Given the description of an element on the screen output the (x, y) to click on. 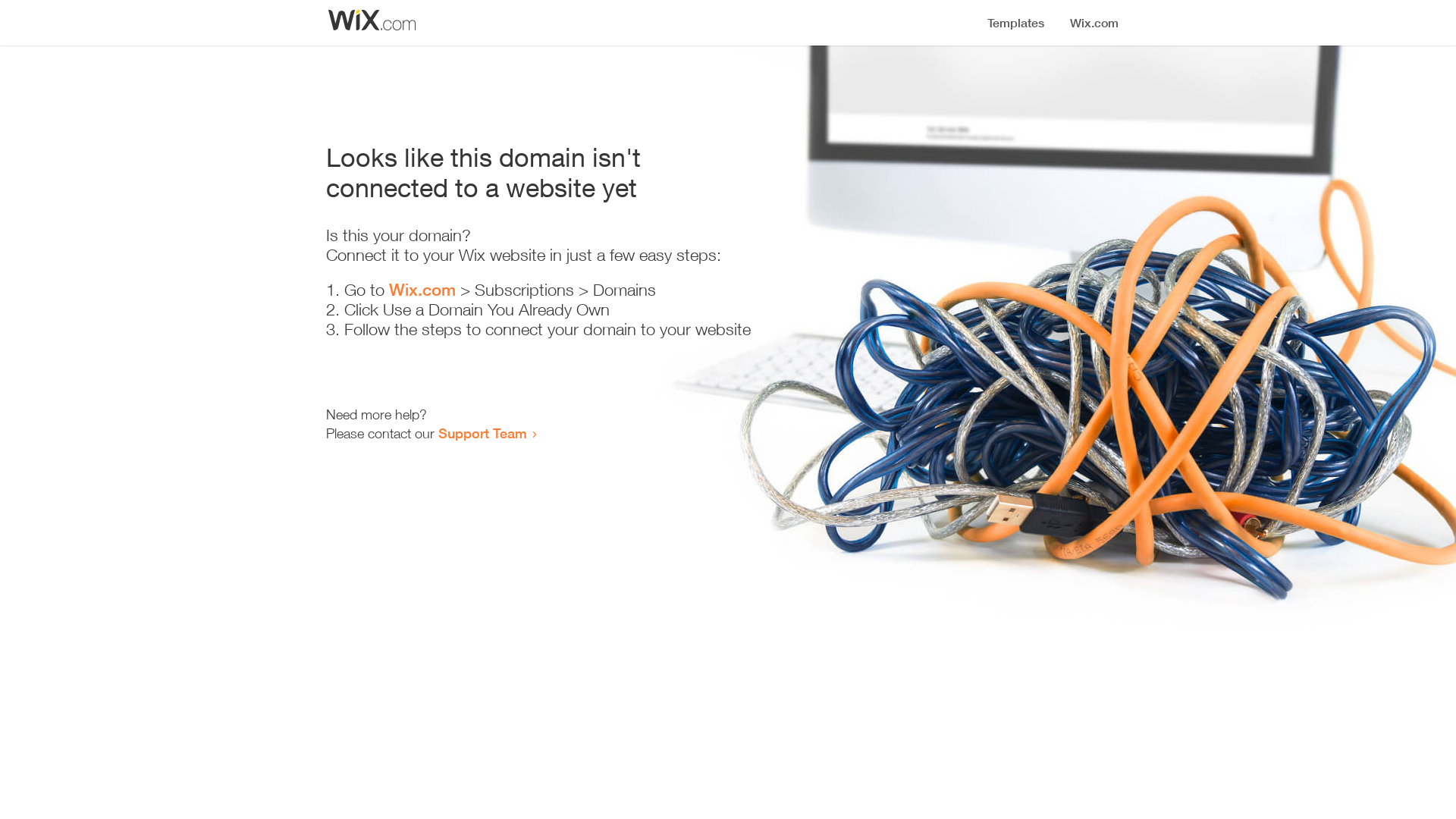
Wix.com Element type: text (422, 289)
Support Team Element type: text (482, 432)
